Given the description of an element on the screen output the (x, y) to click on. 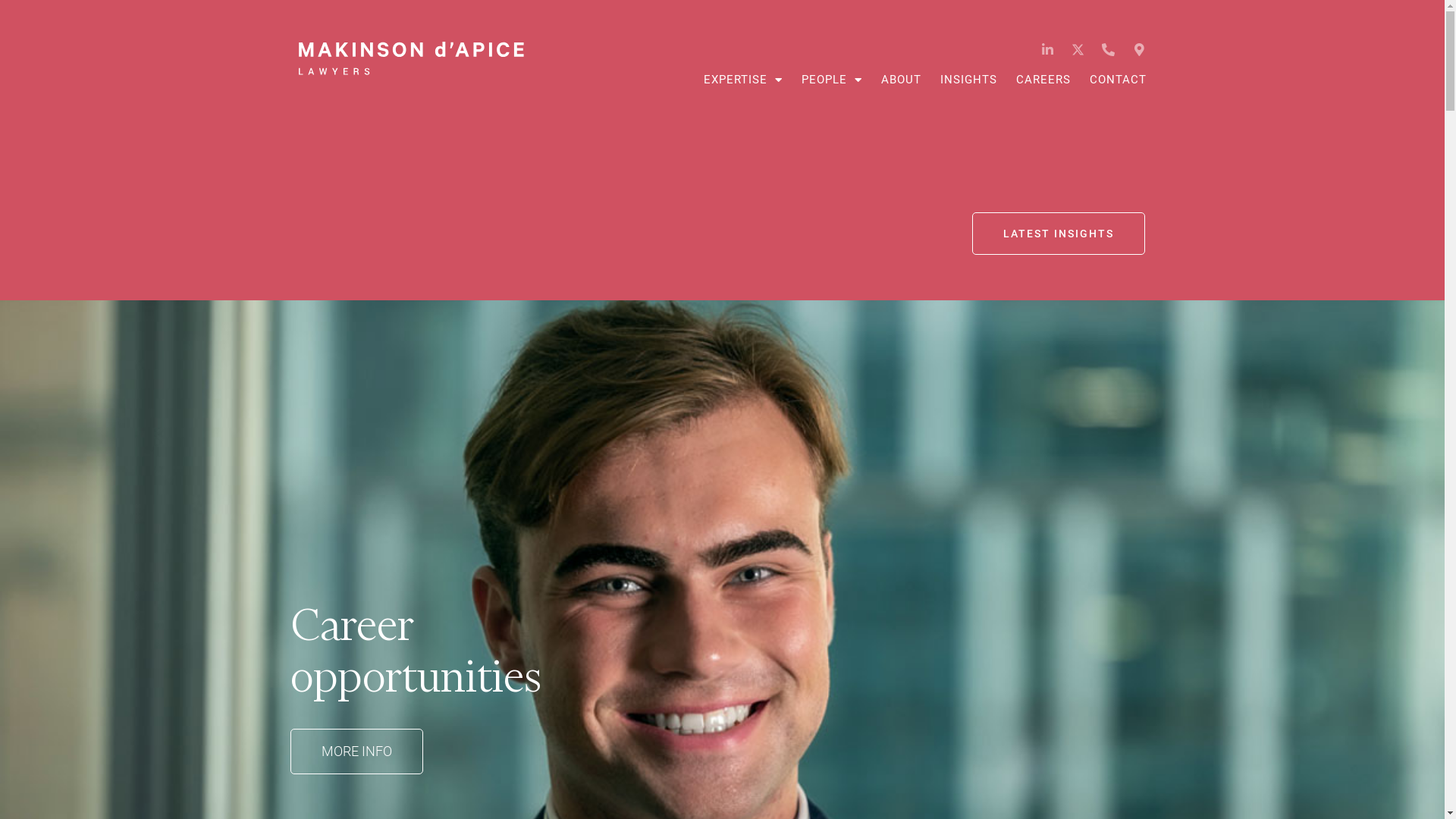
LATEST INSIGHTS Element type: text (1058, 233)
PEOPLE Element type: text (831, 79)
ABOUT Element type: text (901, 79)
INSIGHTS Element type: text (968, 79)
CAREERS Element type: text (1043, 79)
EXPERTISE Element type: text (742, 79)
CONTACT Element type: text (1117, 79)
MORE INFO Element type: text (355, 770)
